Given the description of an element on the screen output the (x, y) to click on. 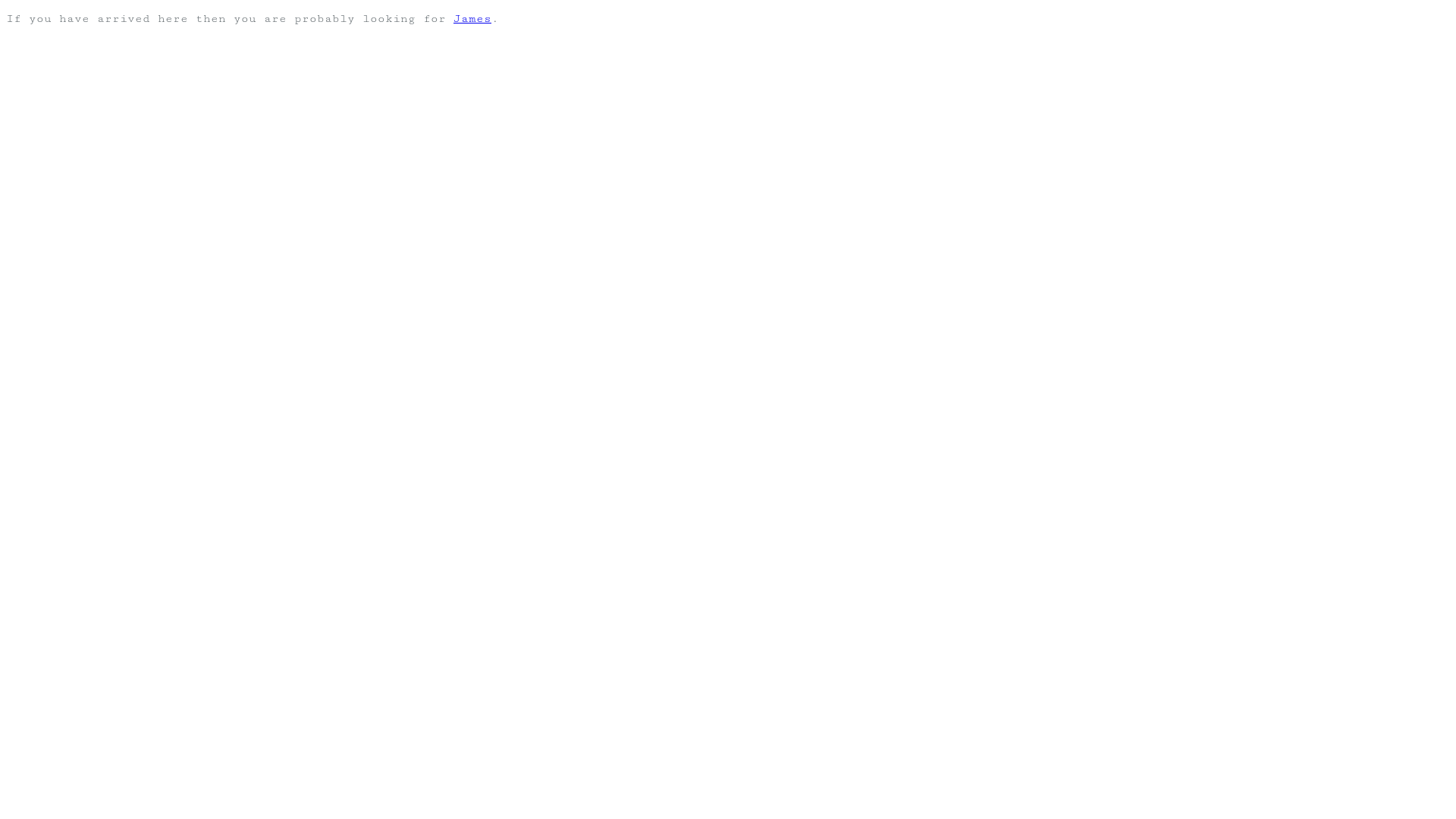
James Element type: text (472, 18)
